Given the description of an element on the screen output the (x, y) to click on. 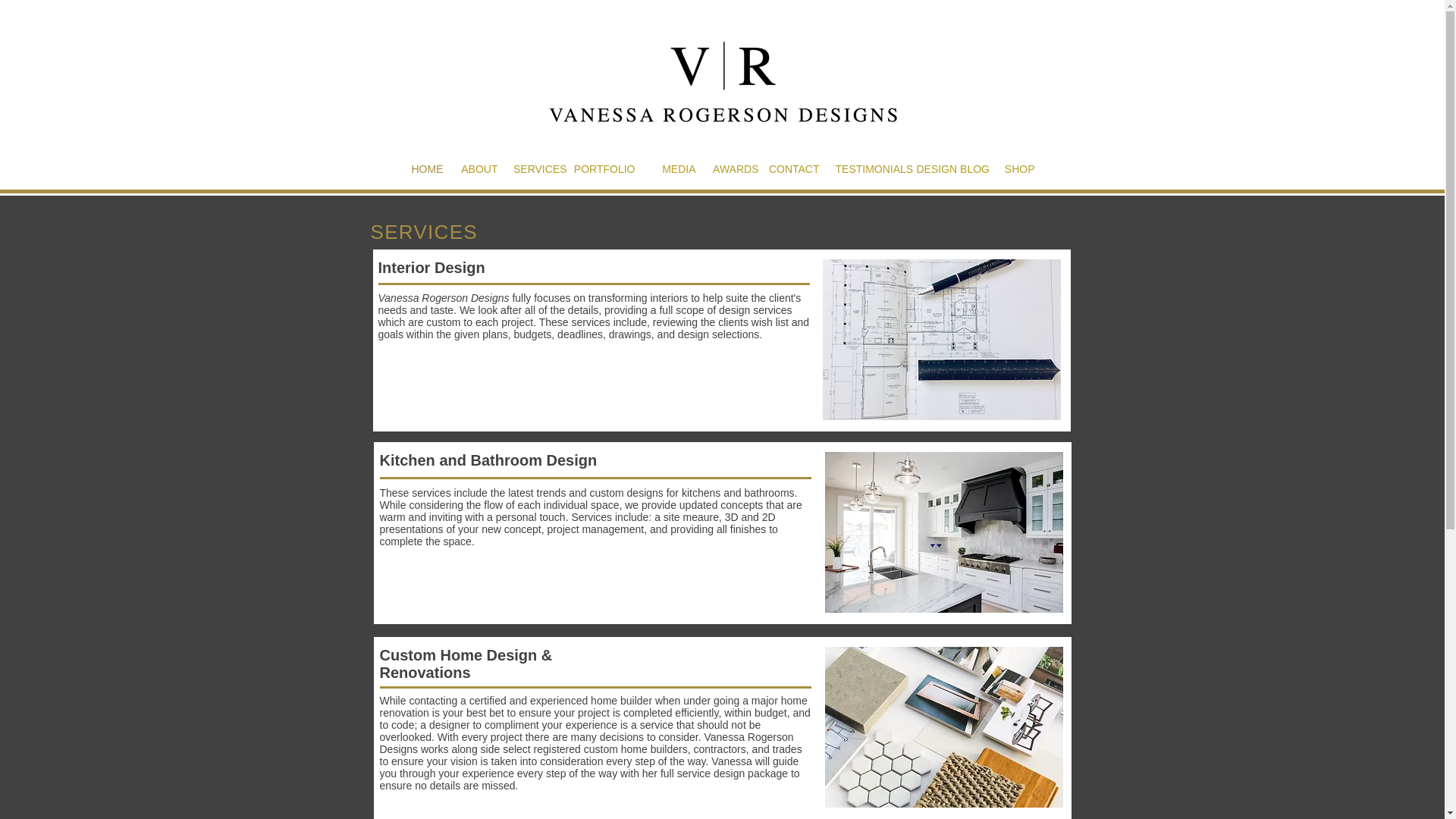
SHOP (1003, 169)
HOME (411, 169)
ABOUT (466, 169)
SERVICES (536, 169)
PORTFOLIO (600, 169)
AWARDS (727, 169)
TESTIMONIALS (874, 169)
CONTACT (788, 169)
DESIGN BLOG (951, 169)
MEDIA (664, 169)
